Given the description of an element on the screen output the (x, y) to click on. 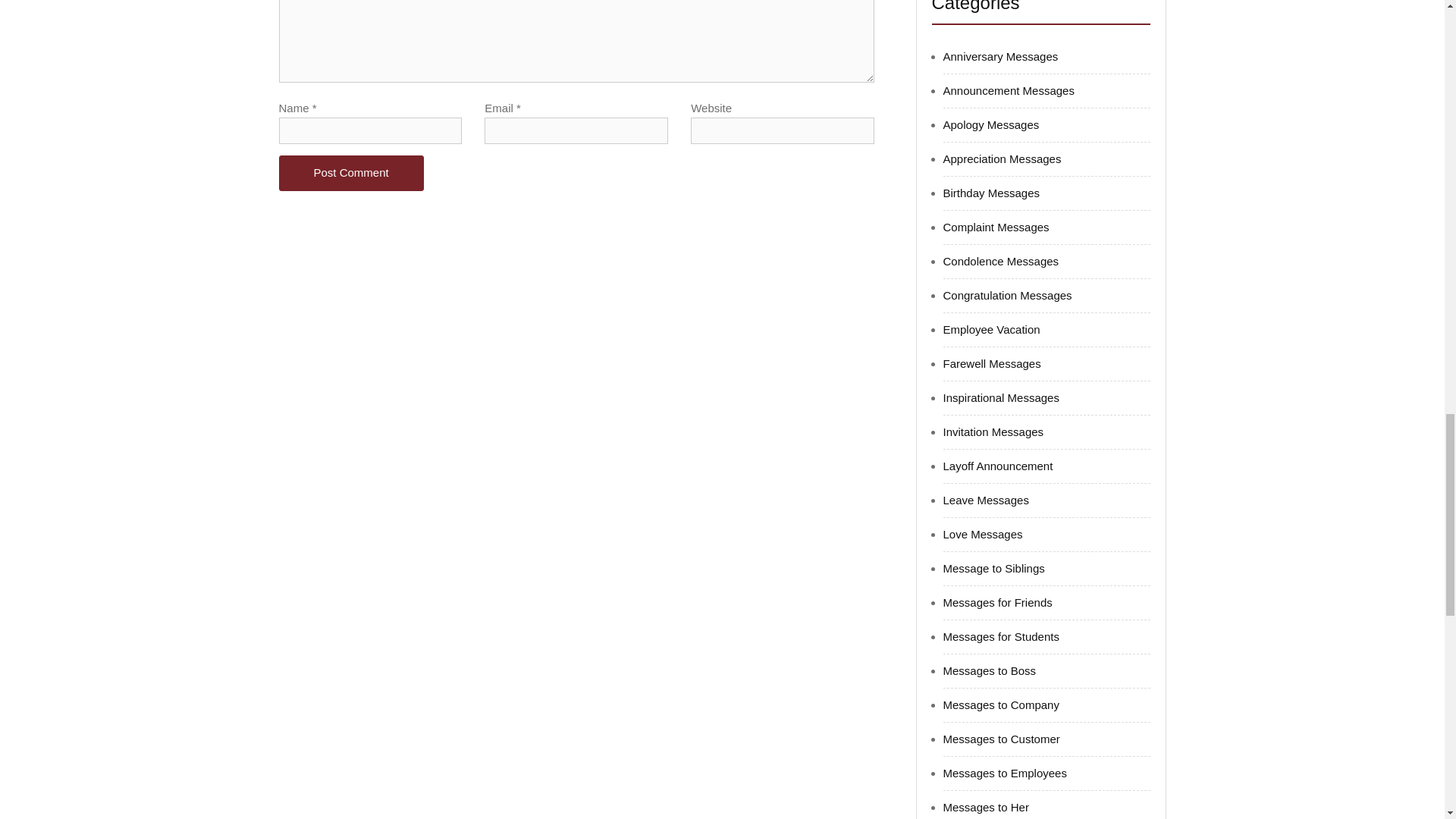
Post Comment (351, 172)
Post Comment (351, 172)
